Given the description of an element on the screen output the (x, y) to click on. 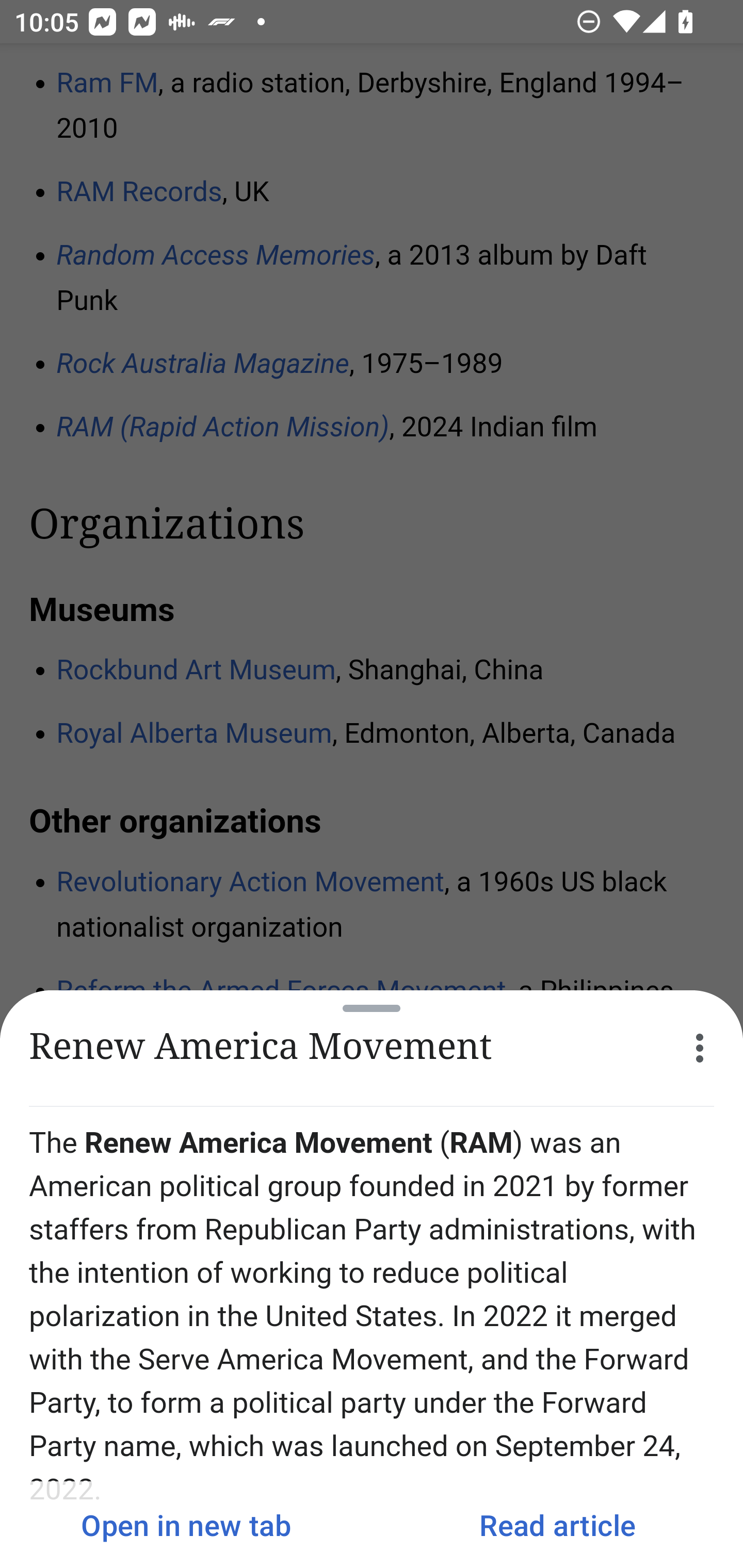
Renew America Movement More options (371, 1047)
More options (699, 1048)
Open in new tab (185, 1524)
Read article (557, 1524)
